Given the description of an element on the screen output the (x, y) to click on. 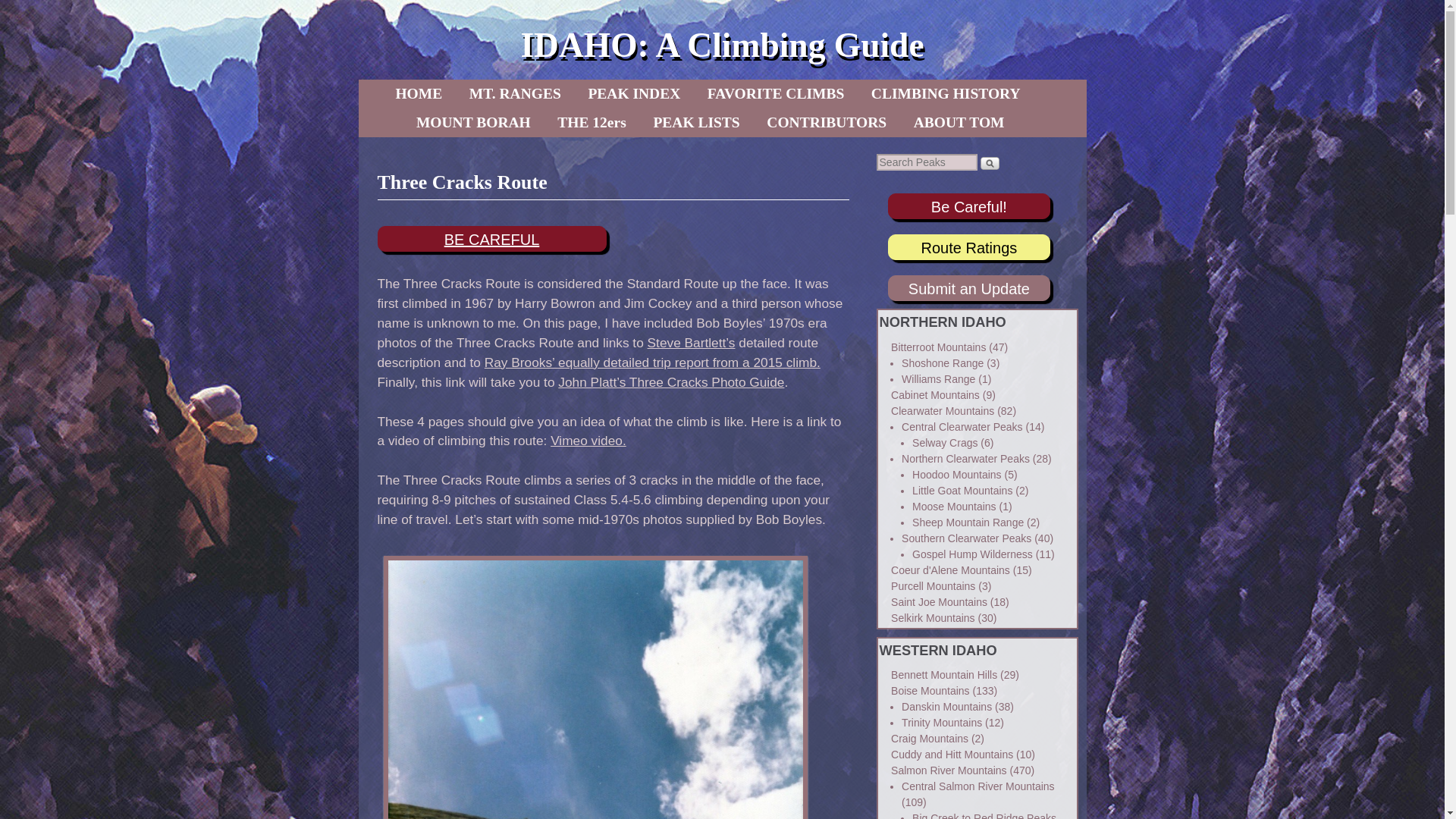
Moose Mountains (953, 506)
IDAHO: A Climbing Guide (721, 44)
Little Goat Mountains (961, 490)
MOUNT BORAH (473, 122)
Selway Crags (944, 442)
ABOUT TOM (958, 122)
Northern Clearwater Peaks (965, 458)
Cabinet Mountains (935, 395)
IDAHO: A Climbing Guide (721, 44)
Bitterroot Mountains (938, 346)
Shoshone Range (942, 363)
Skip to secondary content (463, 93)
Submit an Update (968, 288)
PEAK INDEX (633, 93)
Route Ratings (969, 247)
